Given the description of an element on the screen output the (x, y) to click on. 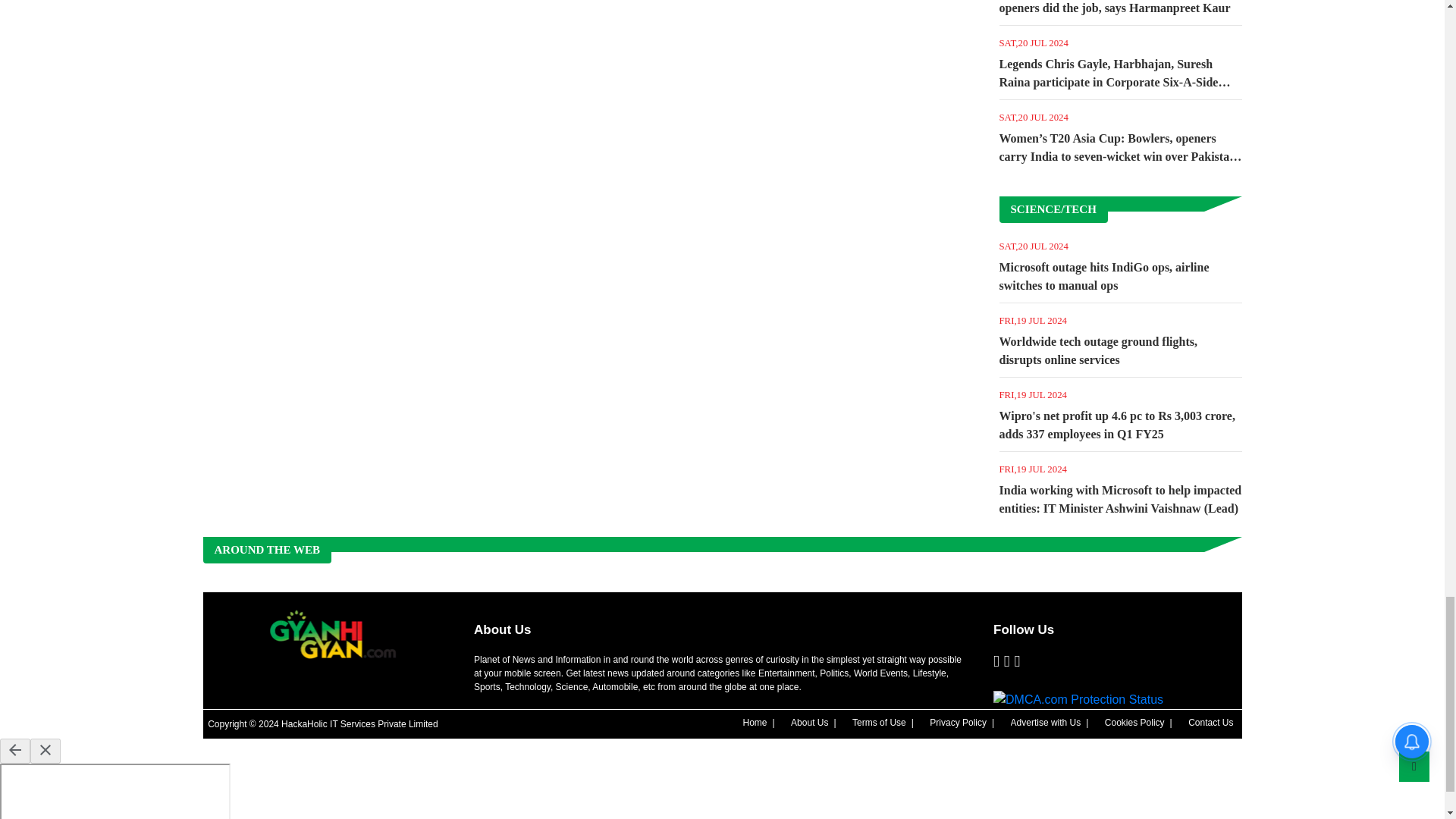
DMCA.com Protection Status (1077, 700)
